Given the description of an element on the screen output the (x, y) to click on. 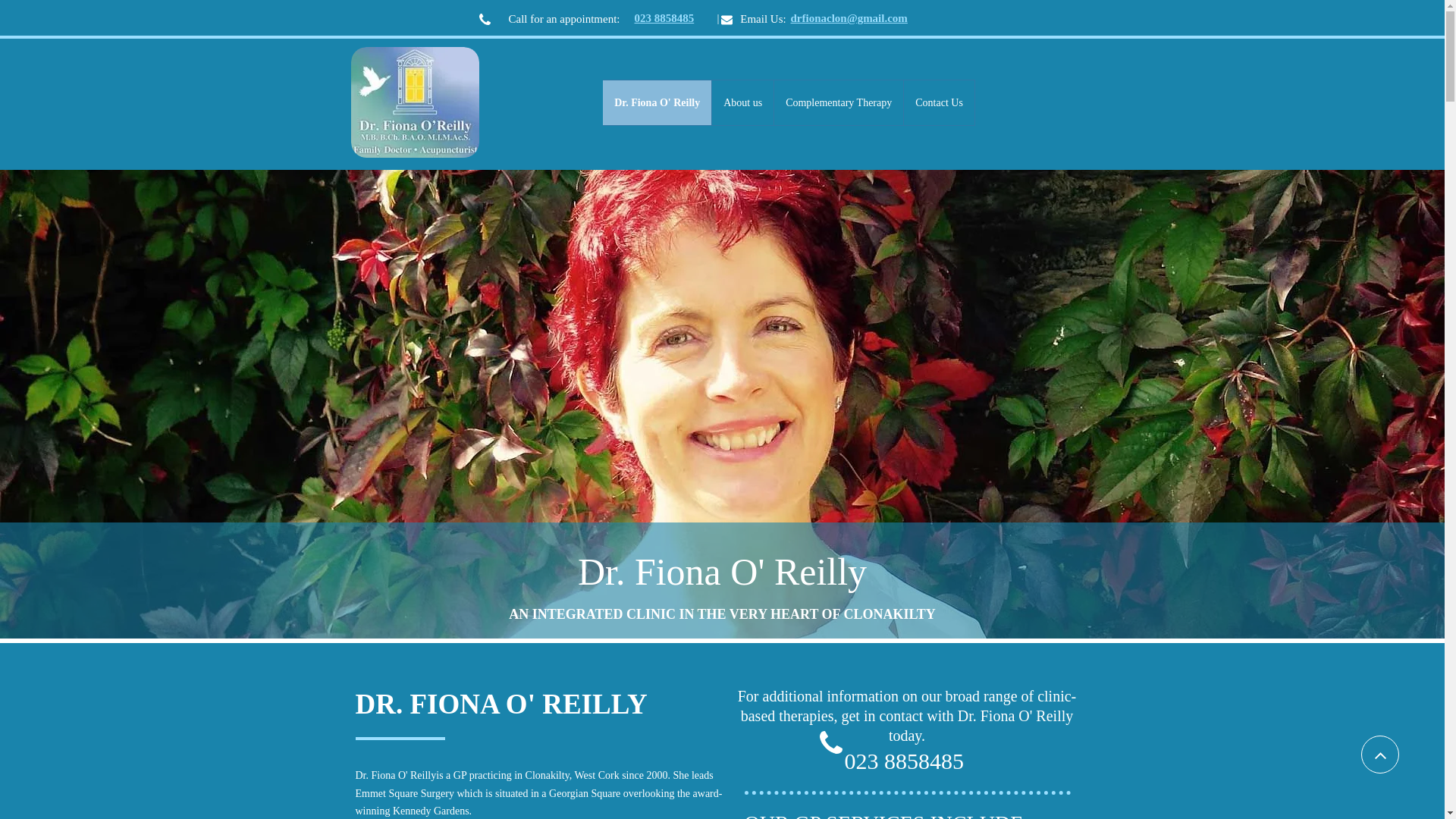
023 8858485 (903, 766)
Dr. Fiona O' Reilly (656, 102)
023 8858485 (663, 19)
Complementary Therapy (839, 102)
About us (742, 102)
Contact Us (939, 102)
